Given the description of an element on the screen output the (x, y) to click on. 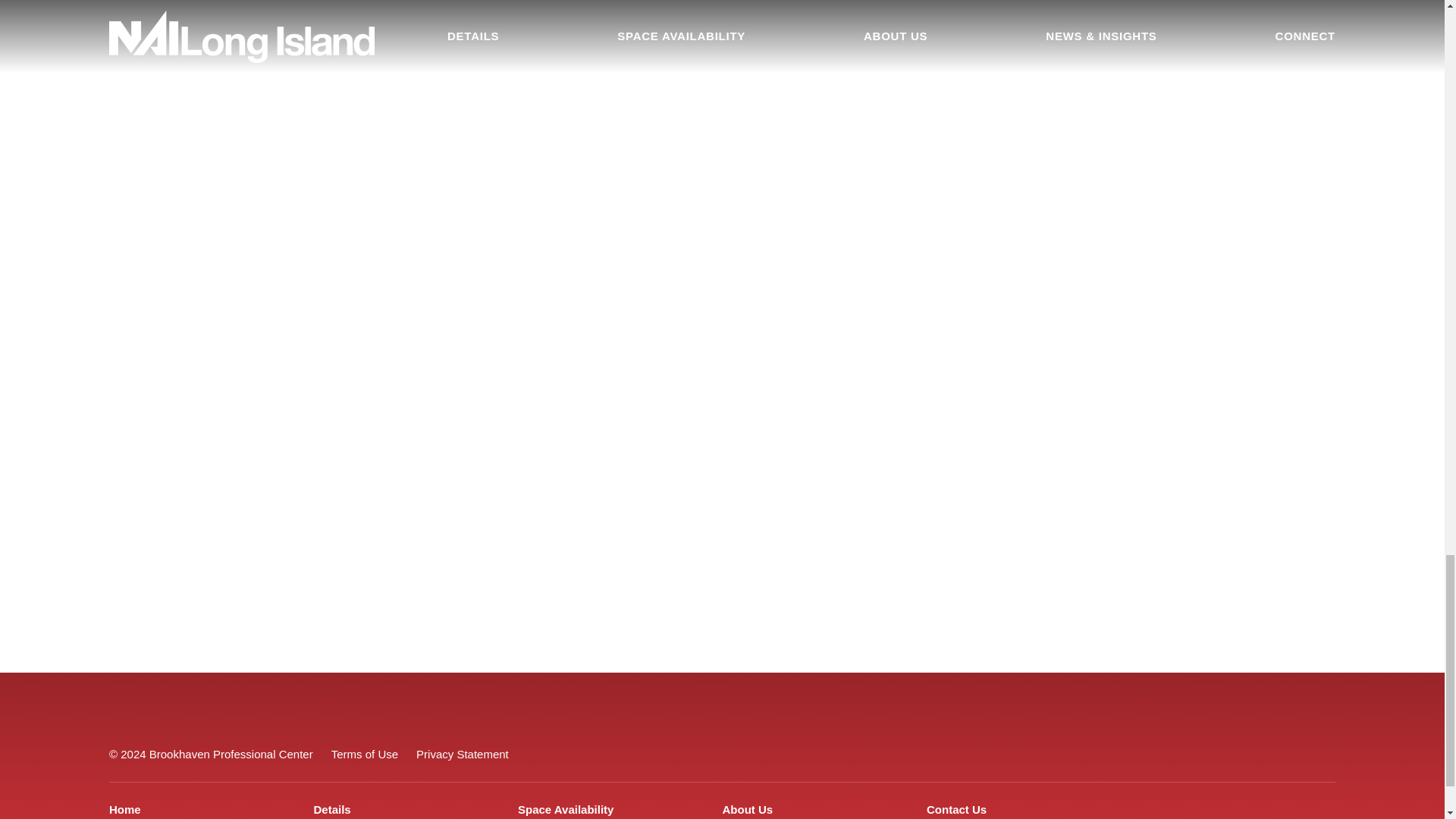
Privacy Statement (462, 753)
Contact Us (956, 809)
Terms of Use (364, 753)
About Us (747, 809)
Details (332, 809)
Home (125, 809)
Space Availability (565, 809)
